Given the description of an element on the screen output the (x, y) to click on. 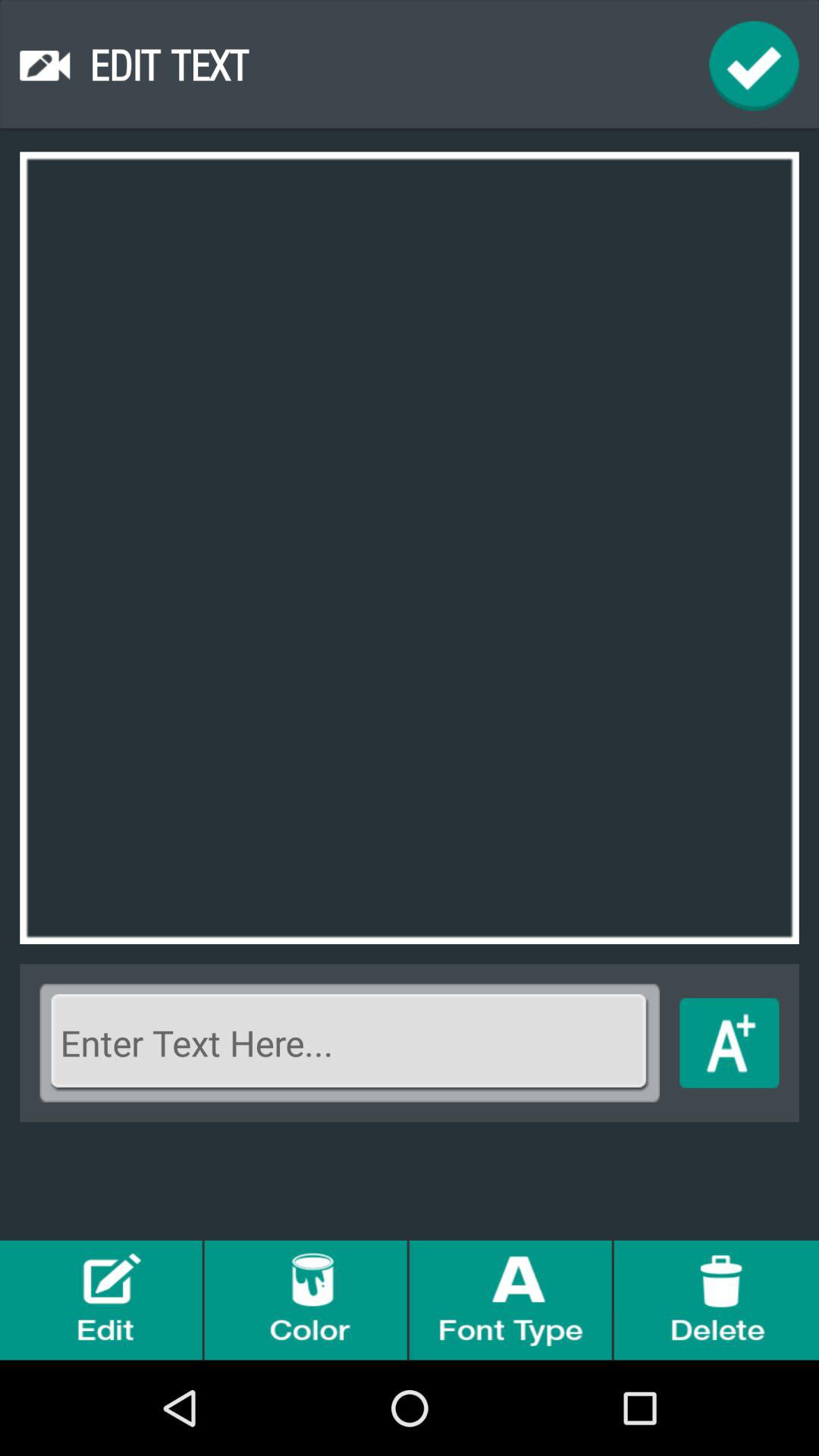
begin typing (729, 1043)
